Given the description of an element on the screen output the (x, y) to click on. 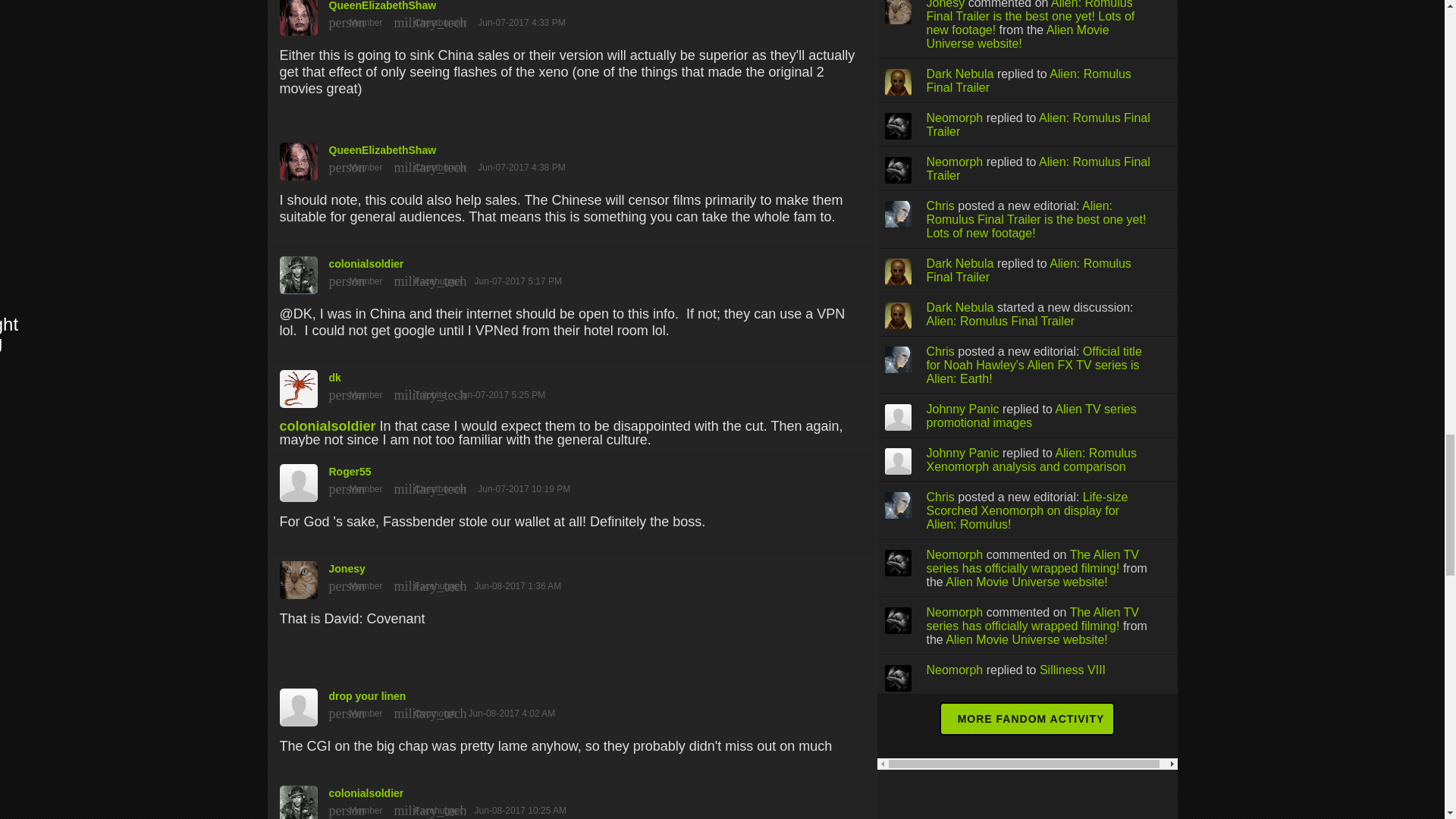
QueenElizabethShaw (571, 157)
Jonesy (571, 576)
colonialsoldier (571, 271)
QueenElizabethShaw (571, 13)
Roger55 (571, 479)
colonialsoldier (327, 426)
dk (571, 385)
